Given the description of an element on the screen output the (x, y) to click on. 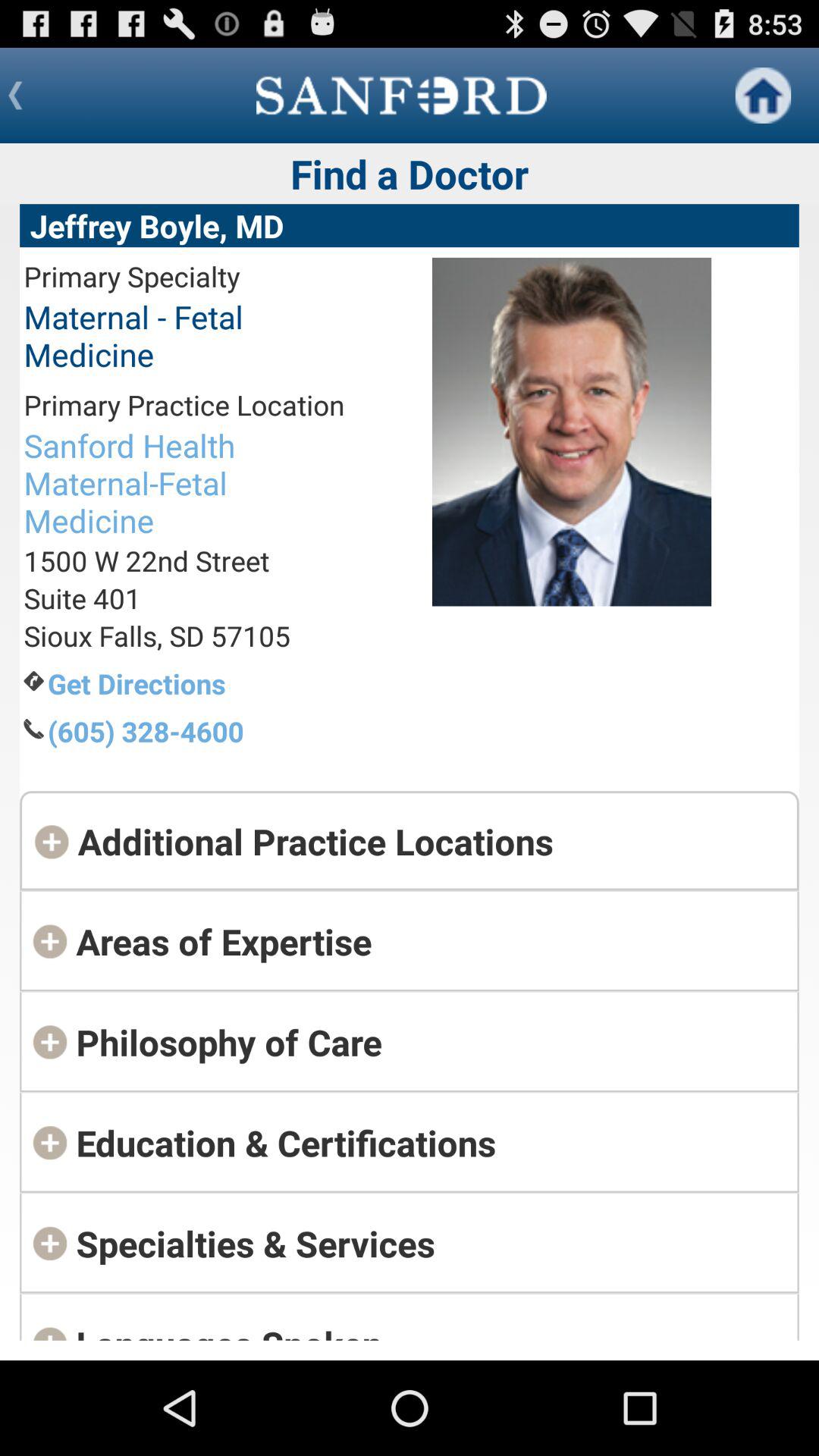
swipe to the get directions icon (195, 683)
